Given the description of an element on the screen output the (x, y) to click on. 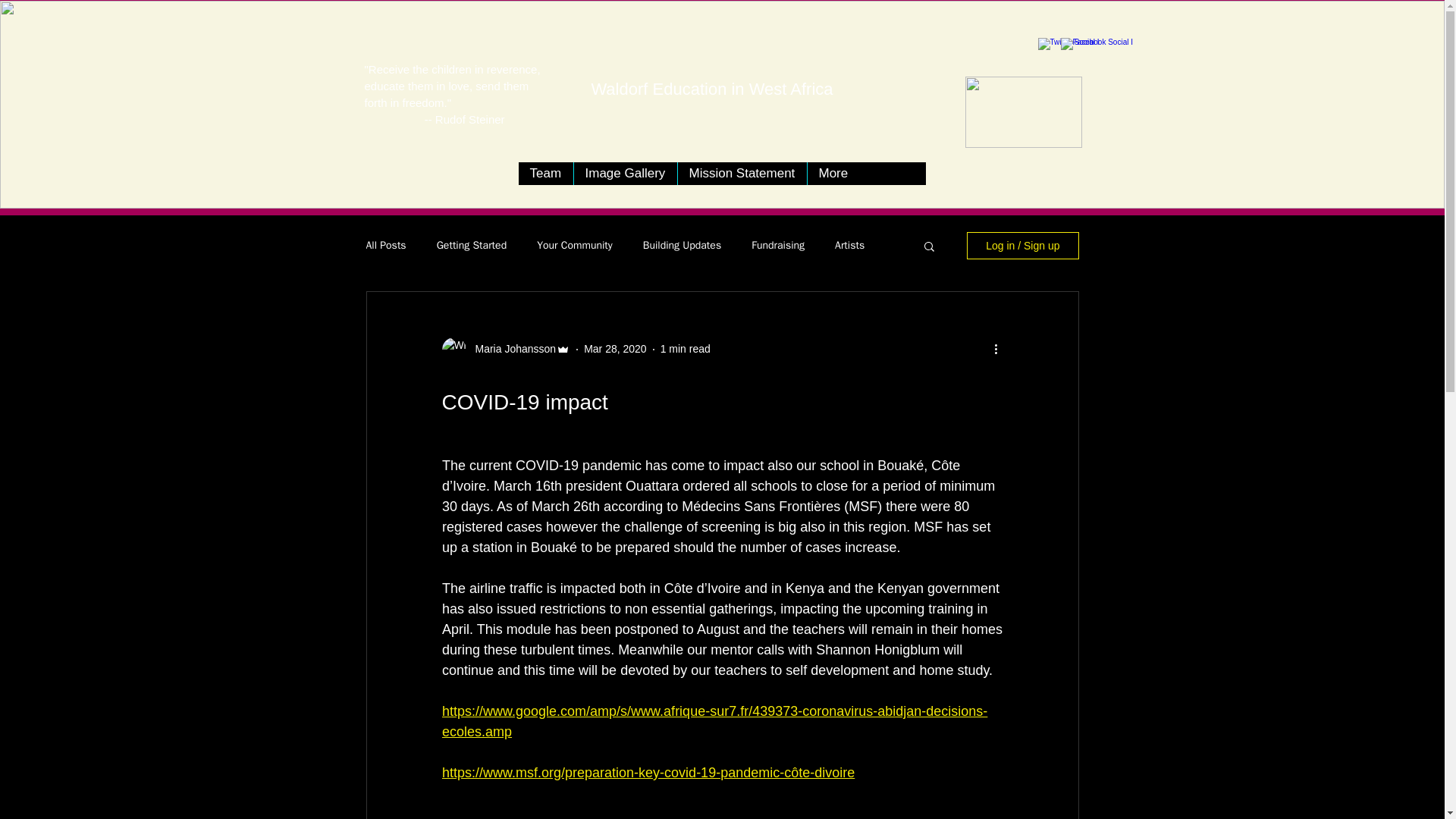
Building Updates (681, 245)
Mission Statement (741, 173)
1 min read (685, 348)
Image Gallery (625, 173)
Artists (849, 245)
Mar 28, 2020 (614, 348)
Your Community (574, 245)
Maria Johansson (510, 349)
Getting Started (471, 245)
Fundraising (778, 245)
